Given the description of an element on the screen output the (x, y) to click on. 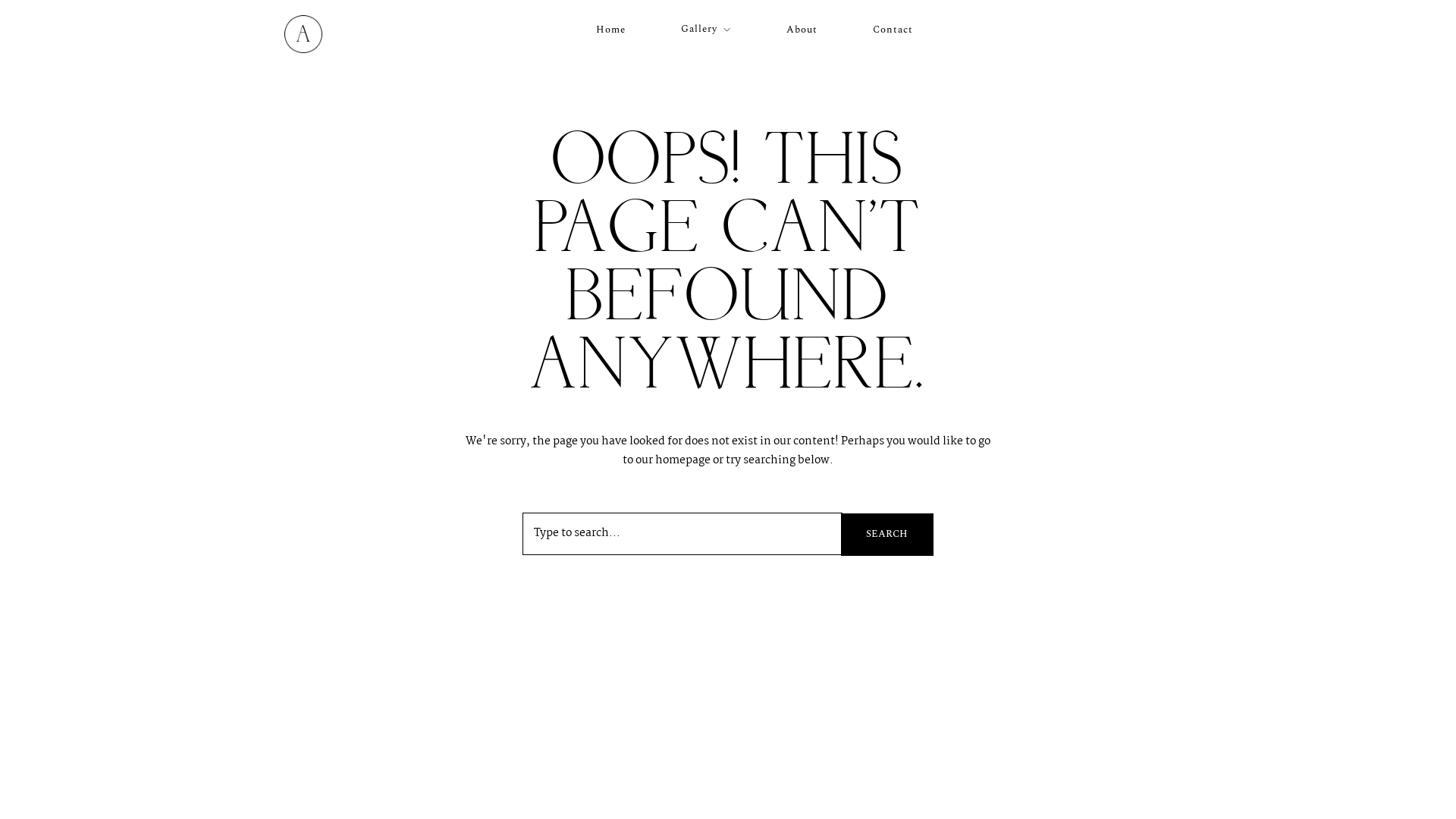
Search Element type: text (886, 534)
Gallery Element type: text (705, 29)
About Element type: text (801, 29)
Contact Element type: text (892, 29)
Home Element type: text (610, 29)
